Given the description of an element on the screen output the (x, y) to click on. 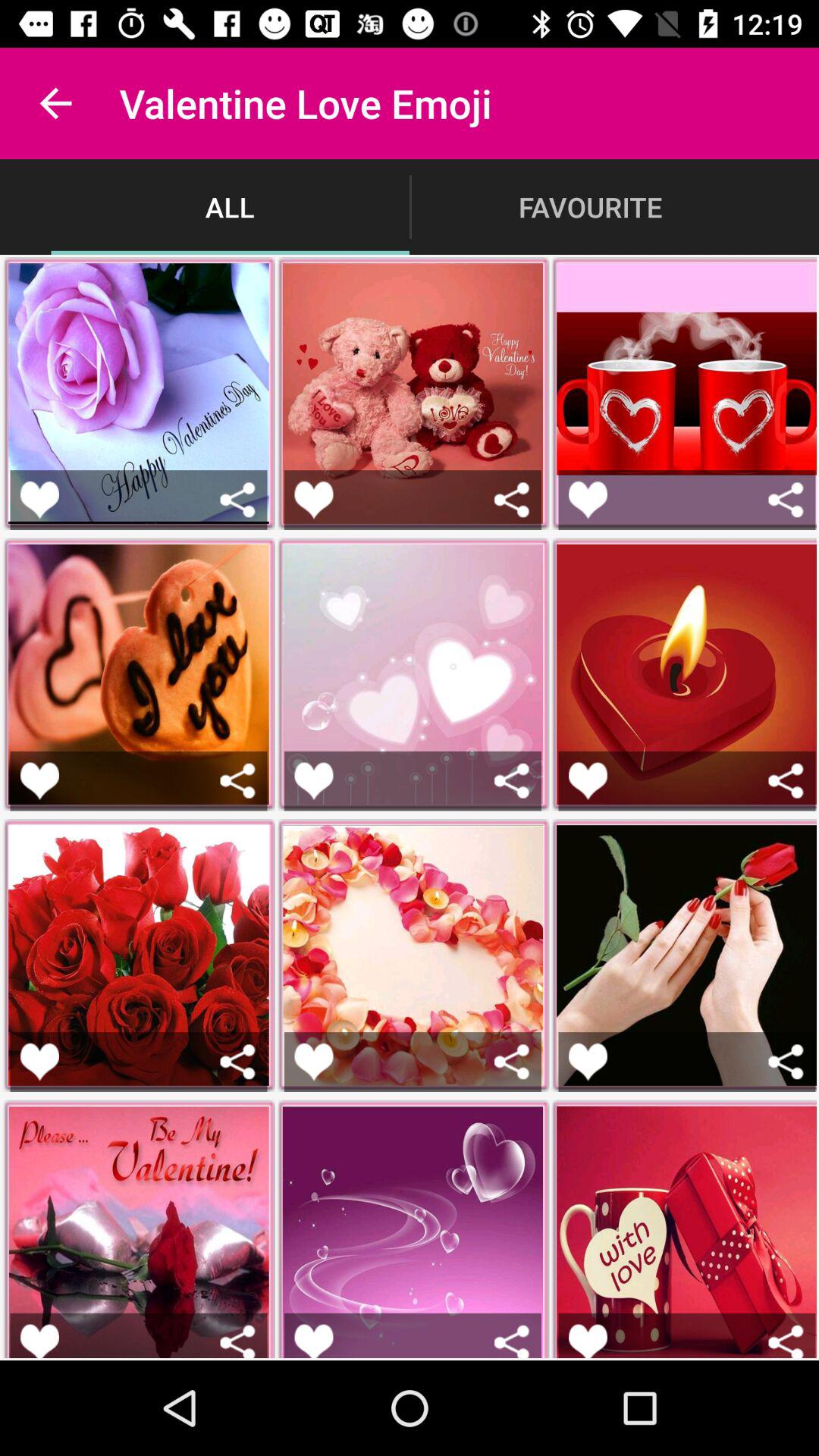
add emoji to favorites (587, 1061)
